Given the description of an element on the screen output the (x, y) to click on. 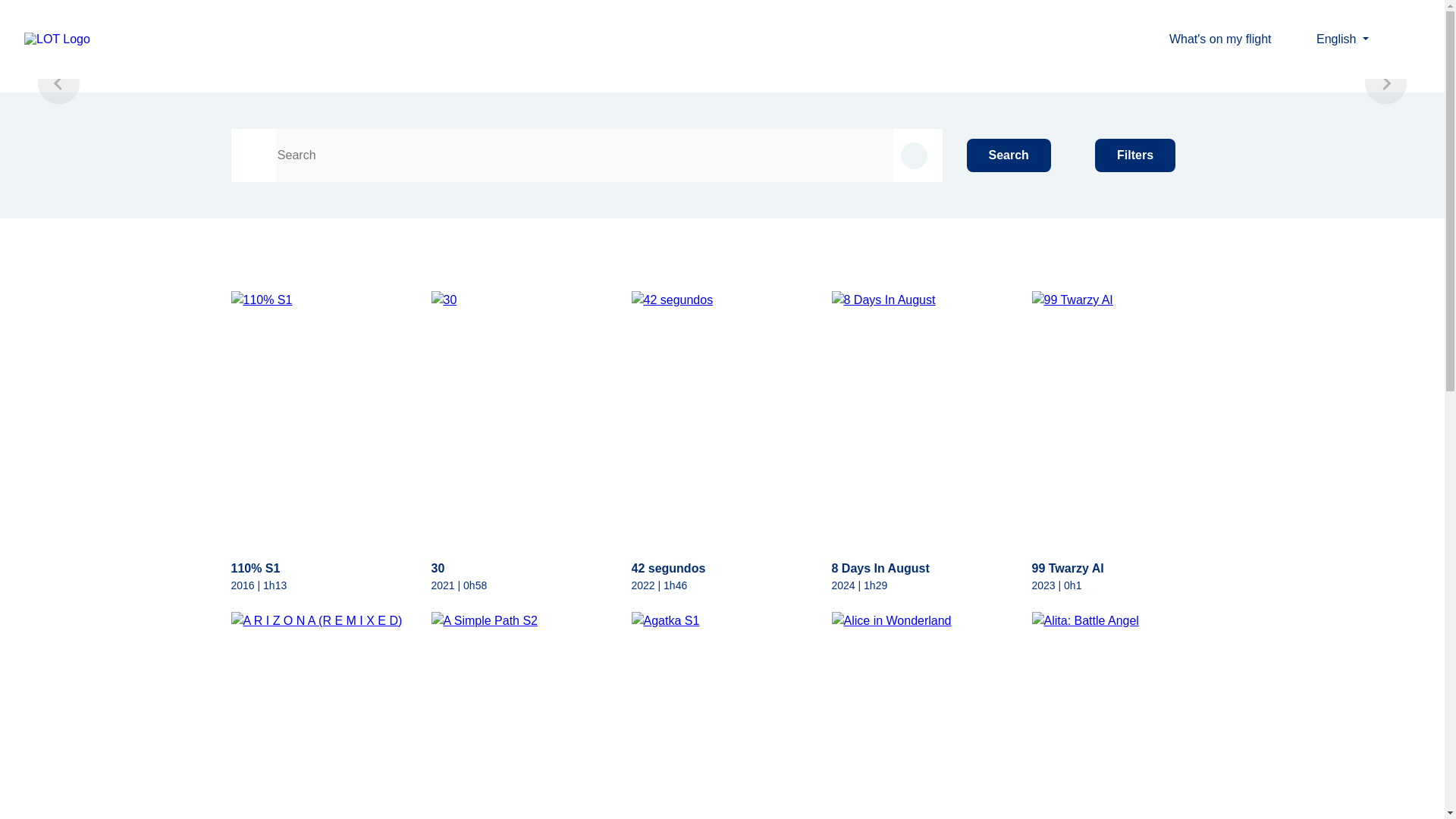
Search (1008, 154)
English (1342, 38)
What's on my flight (1233, 38)
